Given the description of an element on the screen output the (x, y) to click on. 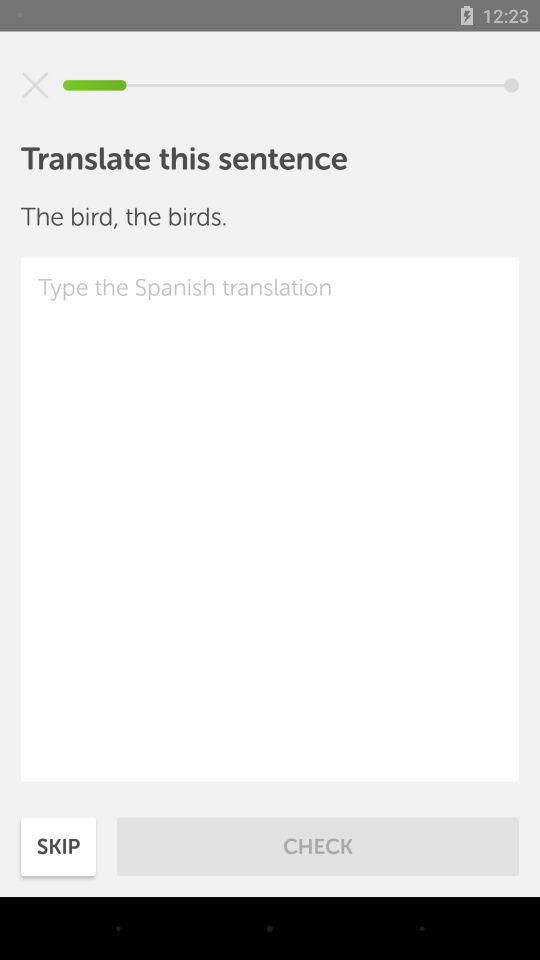
type translation (270, 519)
